Given the description of an element on the screen output the (x, y) to click on. 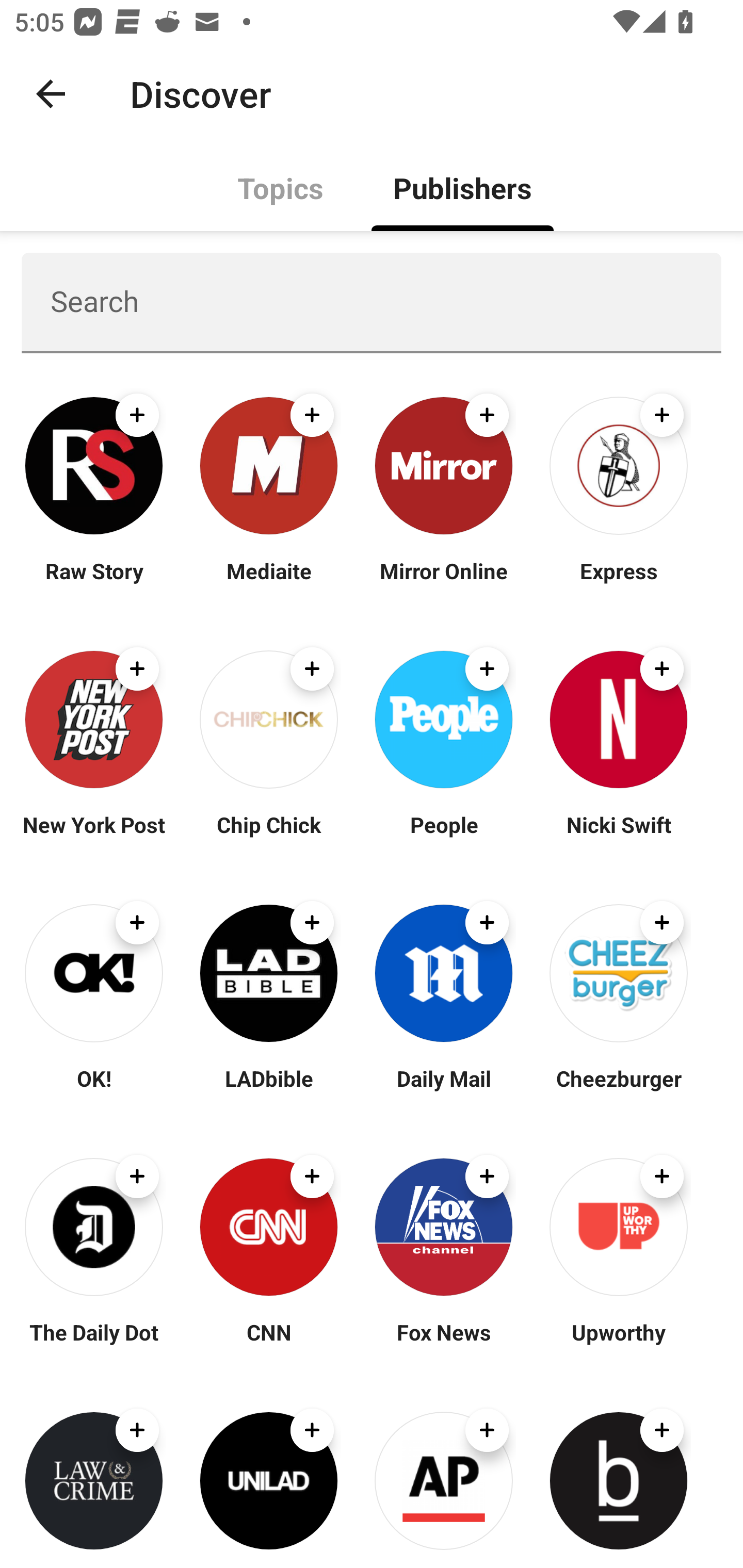
Topics (280, 187)
Search (371, 302)
Raw Story (93, 582)
Mediaite (268, 582)
Mirror Online (443, 582)
Express (618, 582)
New York Post (93, 836)
Chip Chick (268, 836)
People (443, 836)
Nicki Swift (618, 836)
OK! (93, 1090)
LADbible (268, 1090)
Daily Mail (443, 1090)
Cheezburger (618, 1090)
The Daily Dot (93, 1344)
CNN (268, 1344)
Fox News (443, 1344)
